Given the description of an element on the screen output the (x, y) to click on. 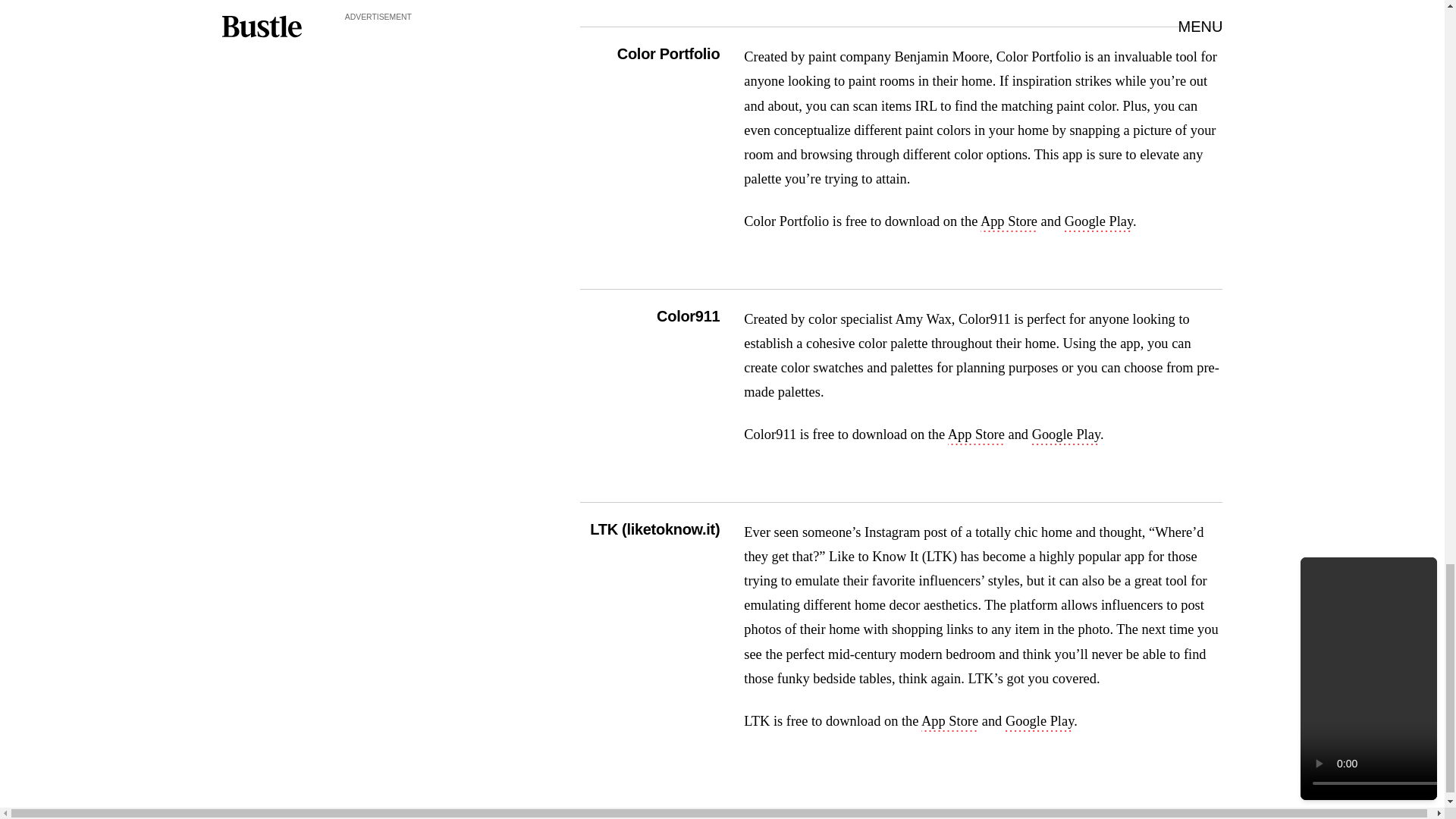
App Store (949, 722)
Google Play (1098, 222)
App Store (975, 435)
Google Play (1066, 435)
App Store (1007, 222)
Google Play (1040, 722)
